Given the description of an element on the screen output the (x, y) to click on. 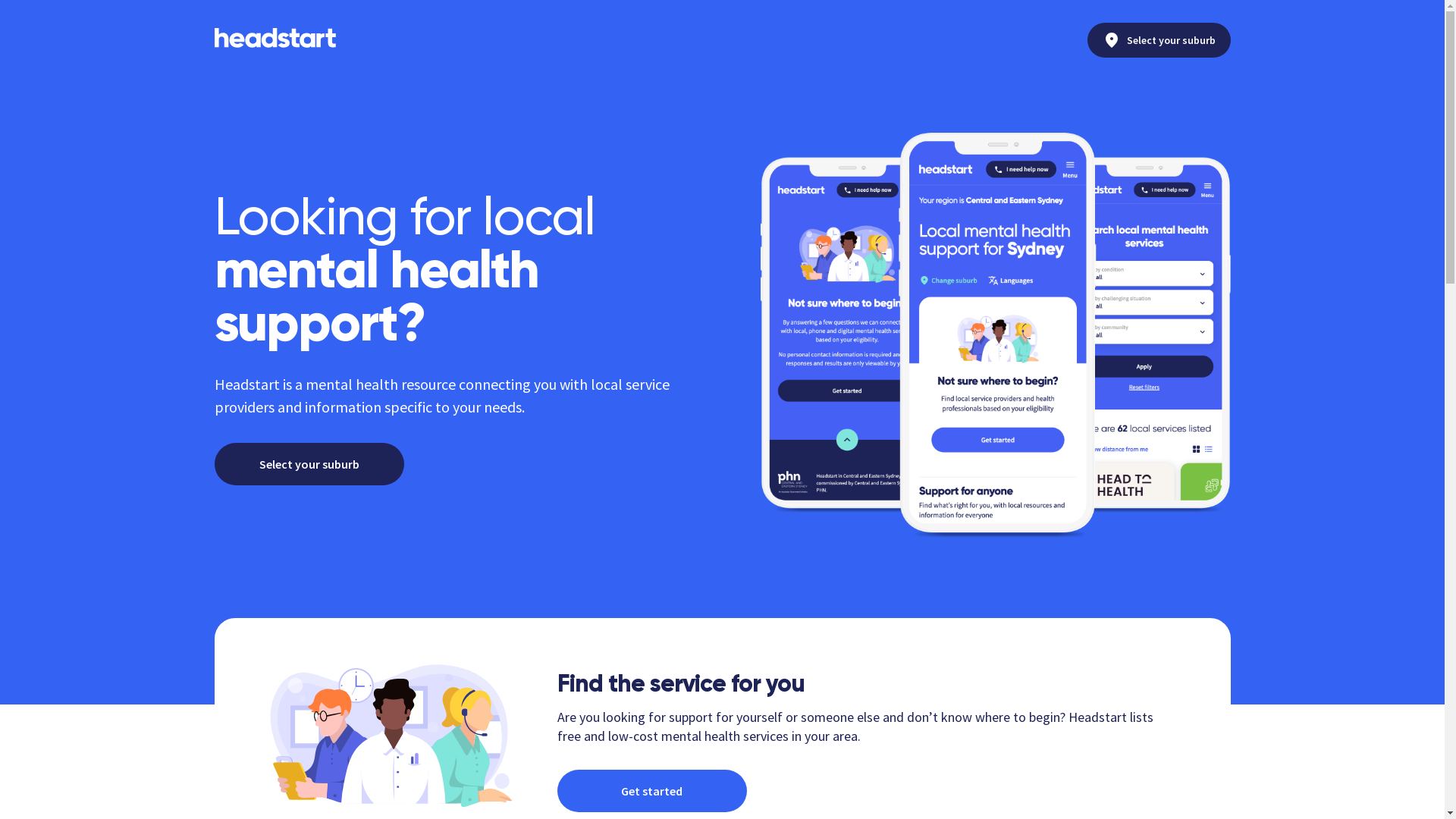
Select your suburb Element type: text (1158, 39)
Select your suburb Element type: text (308, 463)
Get started Element type: text (651, 790)
